Given the description of an element on the screen output the (x, y) to click on. 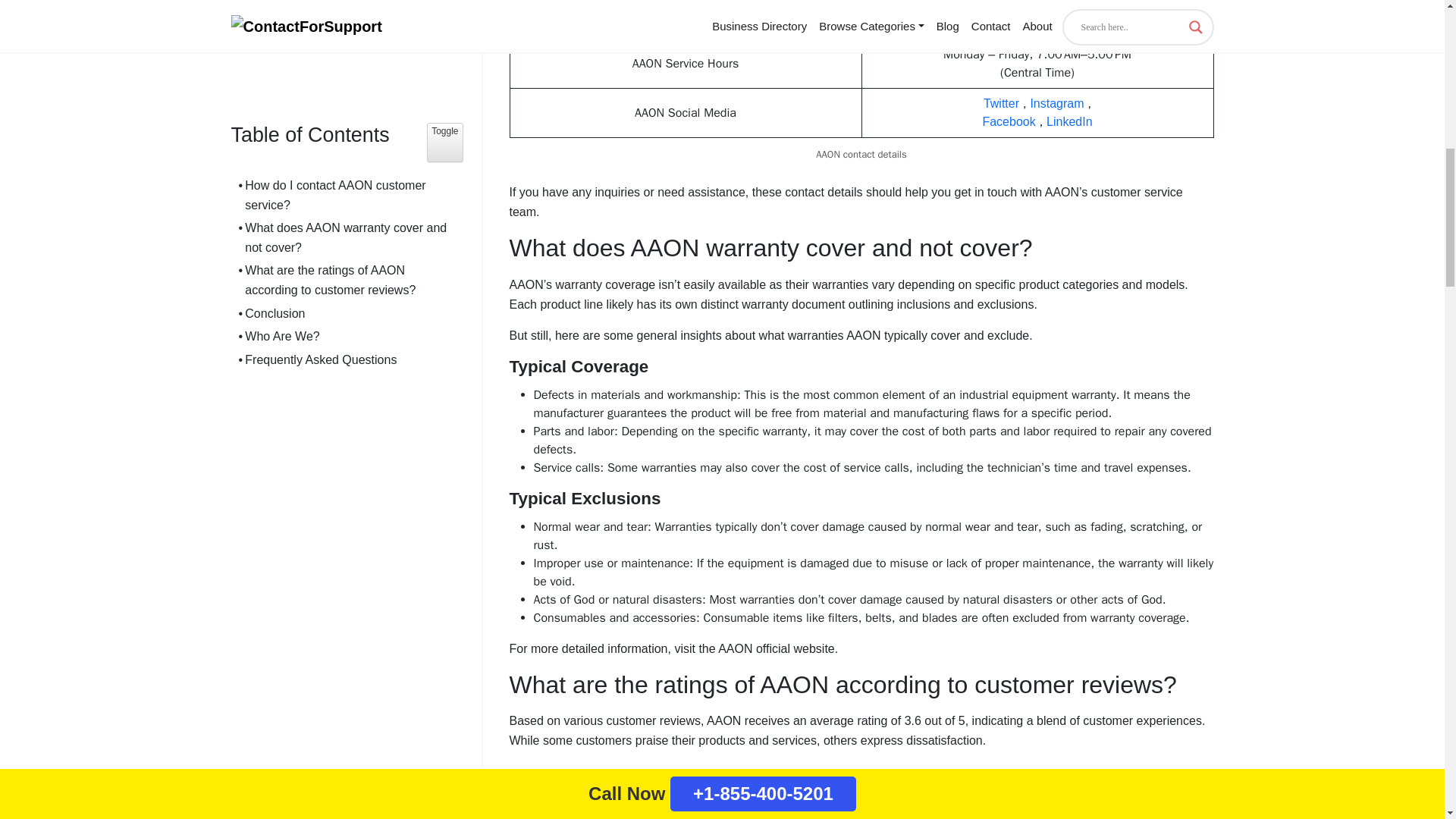
Twitter (1001, 103)
here (1050, 22)
LinkedIn (1069, 121)
Facebook (1008, 121)
Instagram (1056, 103)
